Given the description of an element on the screen output the (x, y) to click on. 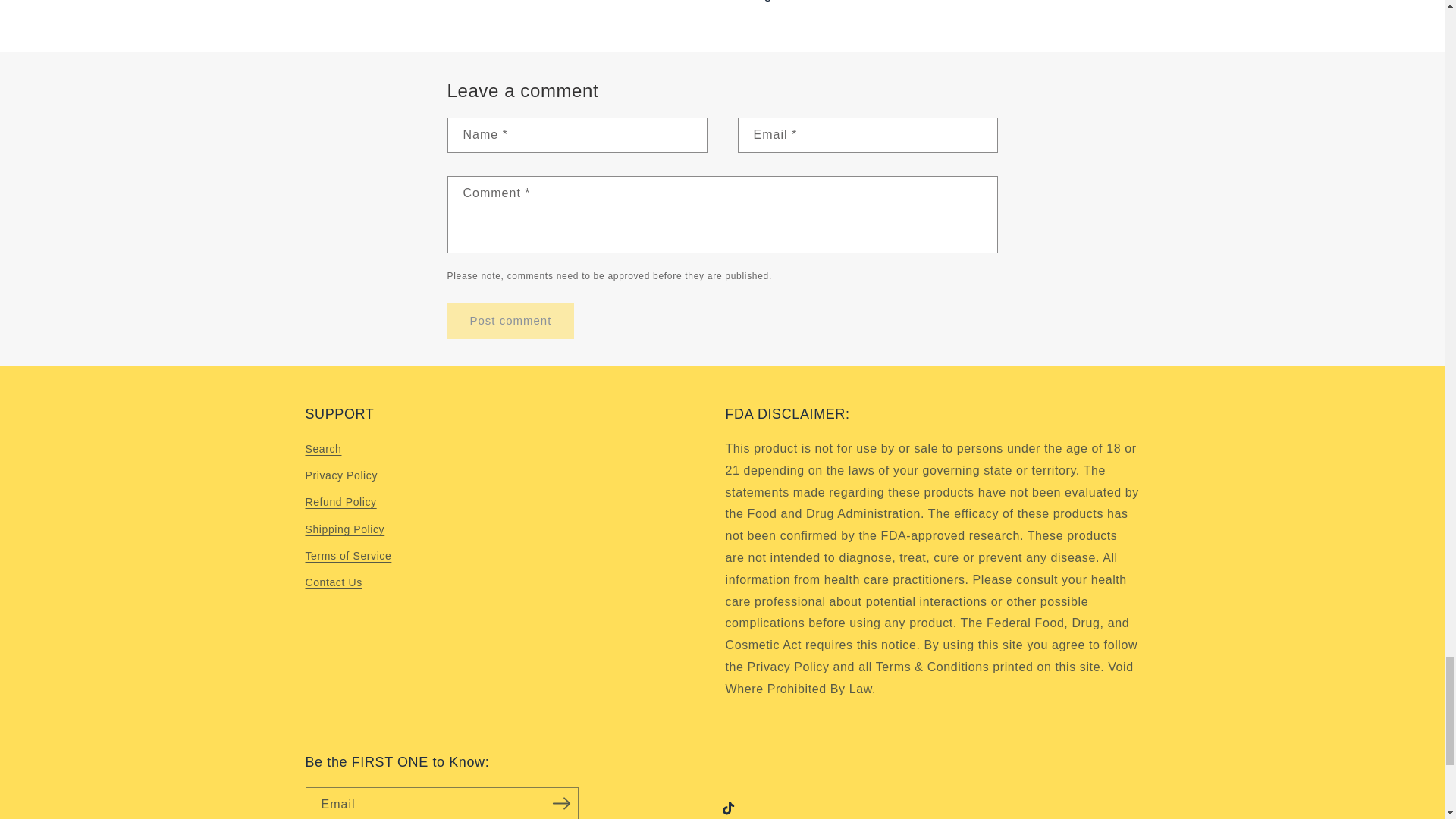
Post comment (510, 321)
